Given the description of an element on the screen output the (x, y) to click on. 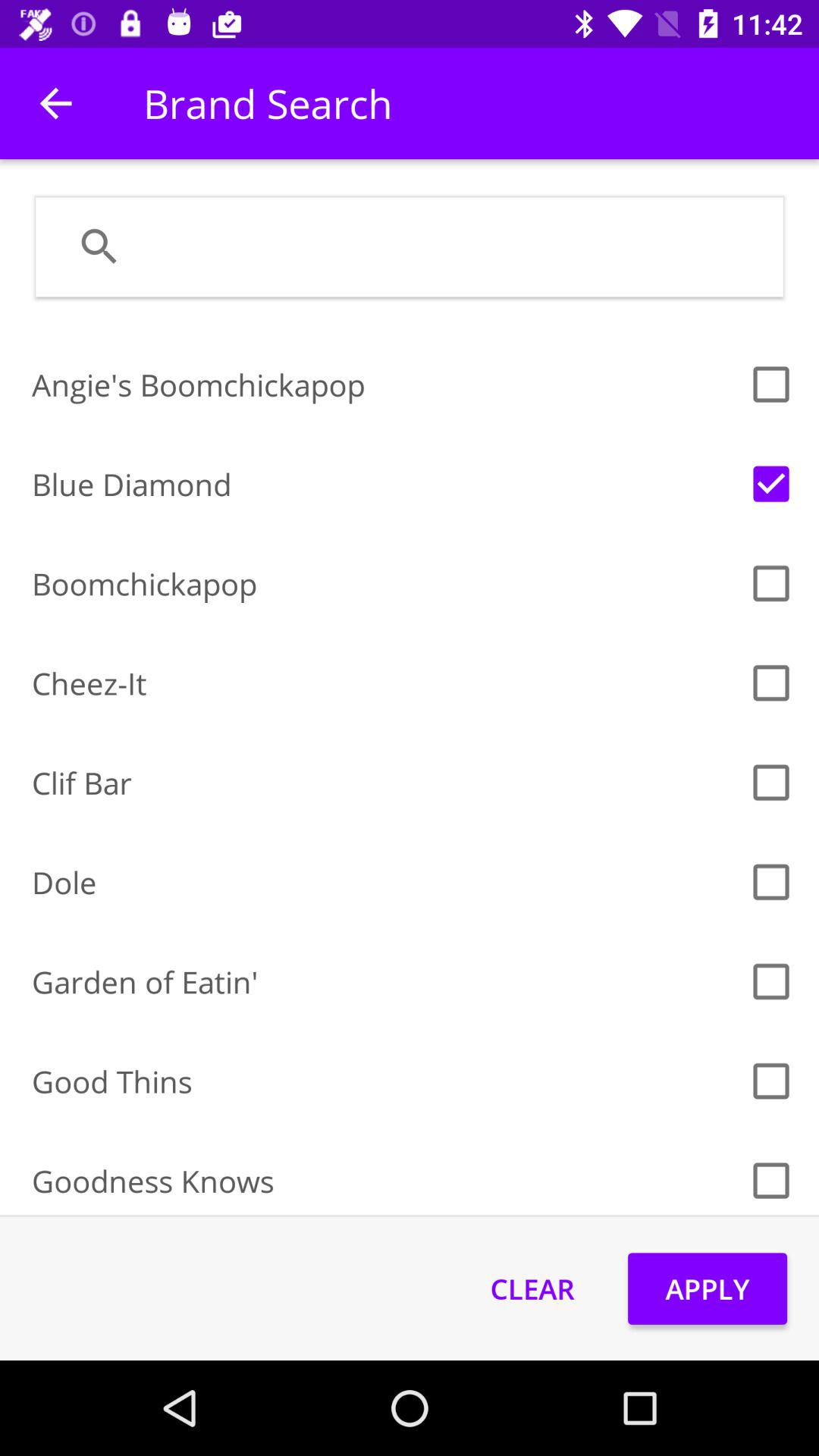
turn off the item below brand search (449, 246)
